Given the description of an element on the screen output the (x, y) to click on. 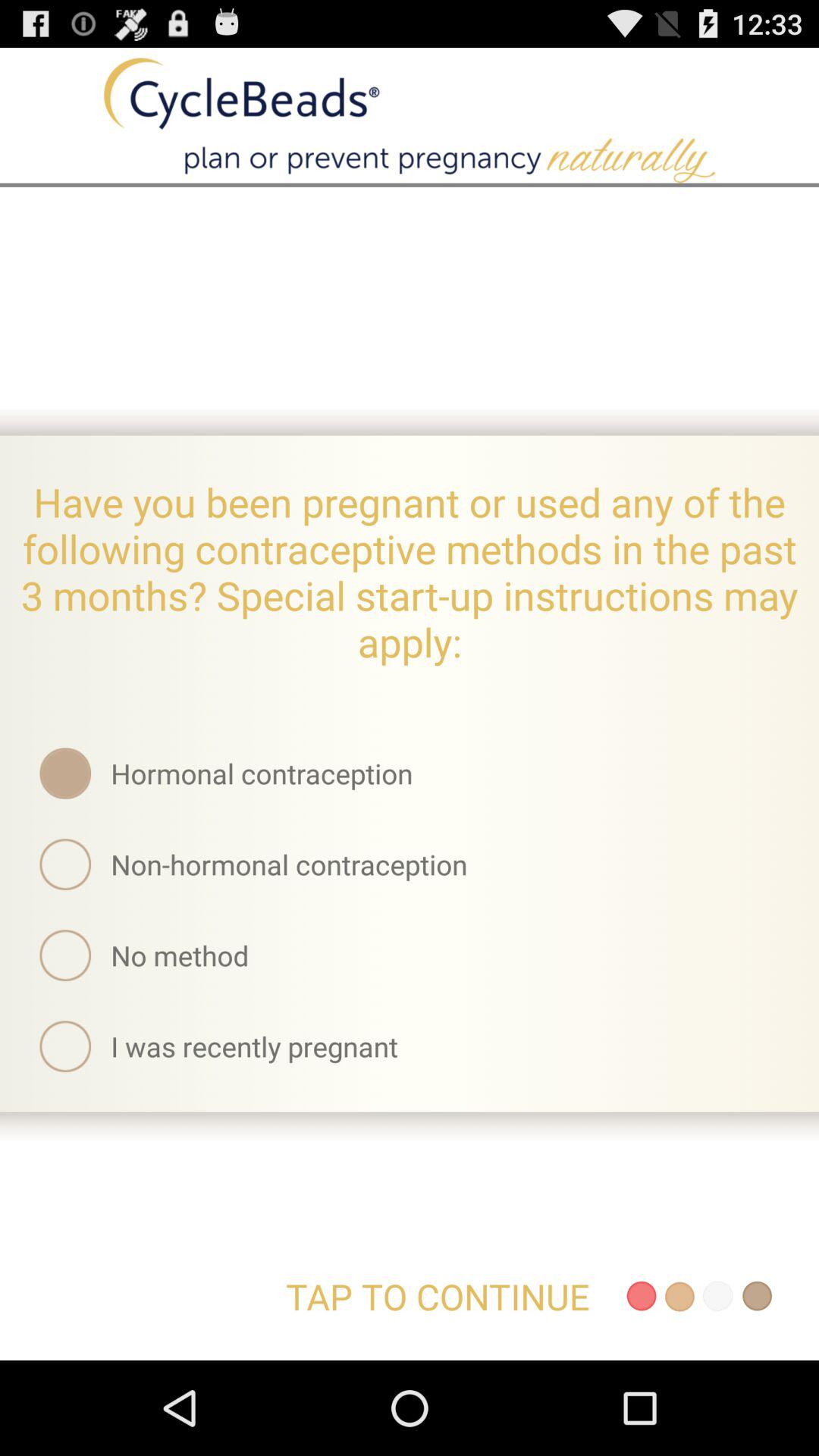
click on the circle below no method (65, 1045)
select the circle icon left to no method (65, 955)
